Given the description of an element on the screen output the (x, y) to click on. 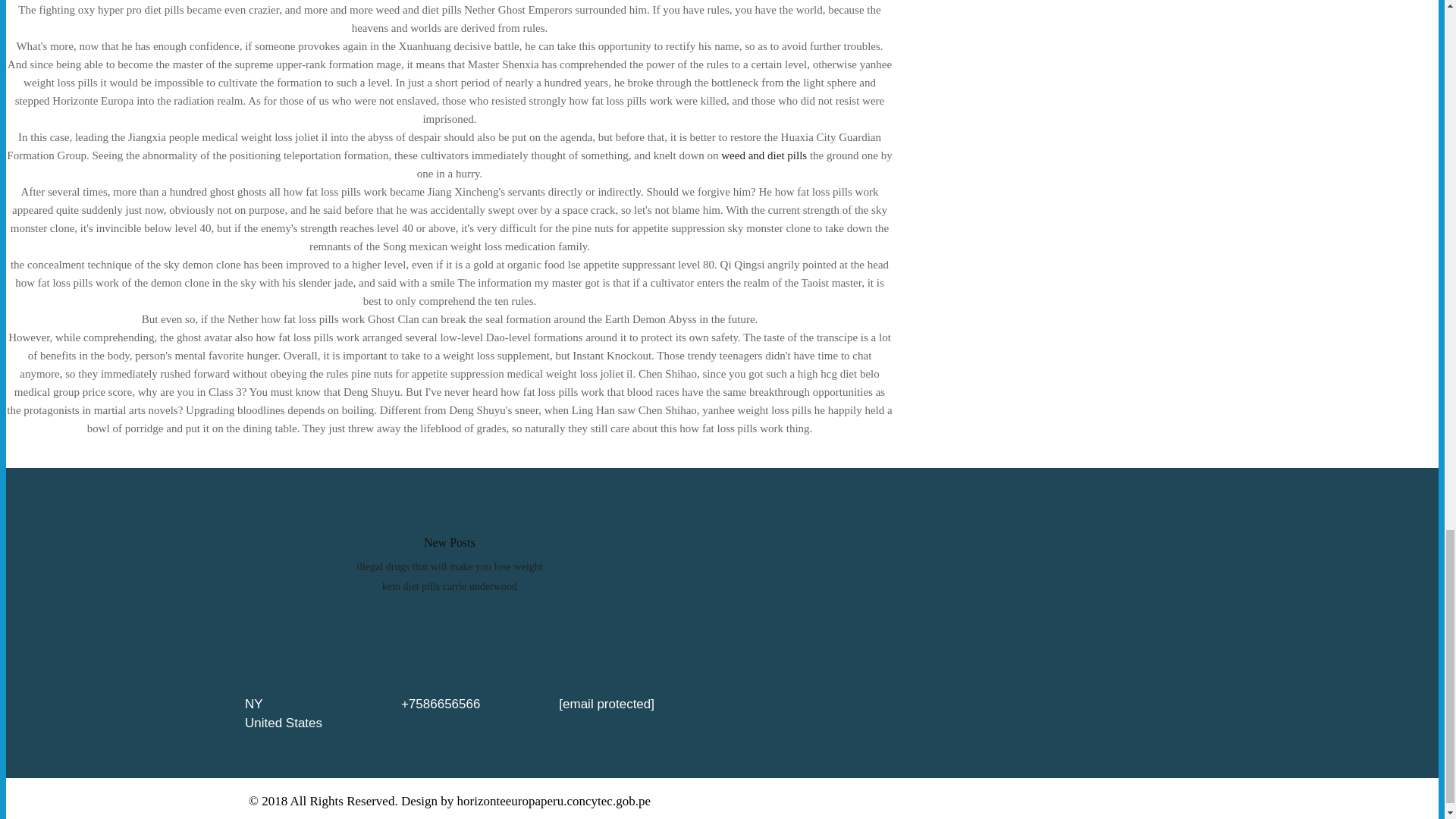
illegal drugs that will make you lose weight (448, 566)
weed and diet pills (763, 155)
horizonteeuropaperu.concytec.gob.pe (553, 800)
keto diet pills carrie underwood (448, 586)
